Given the description of an element on the screen output the (x, y) to click on. 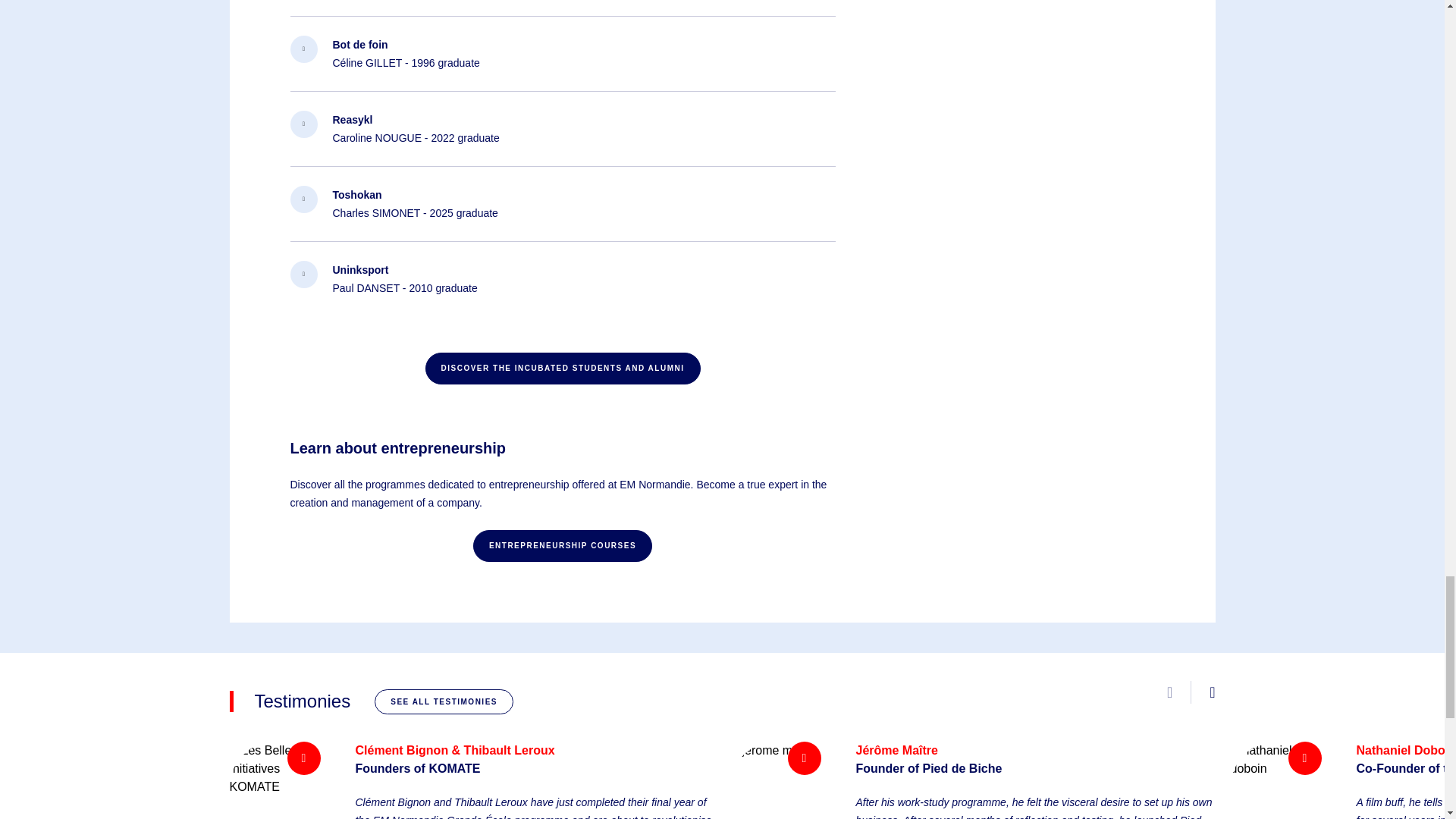
jerome maitre (775, 780)
nathaniel doboin (1275, 780)
Les Belles Initiatives KOMATE (274, 780)
